Given the description of an element on the screen output the (x, y) to click on. 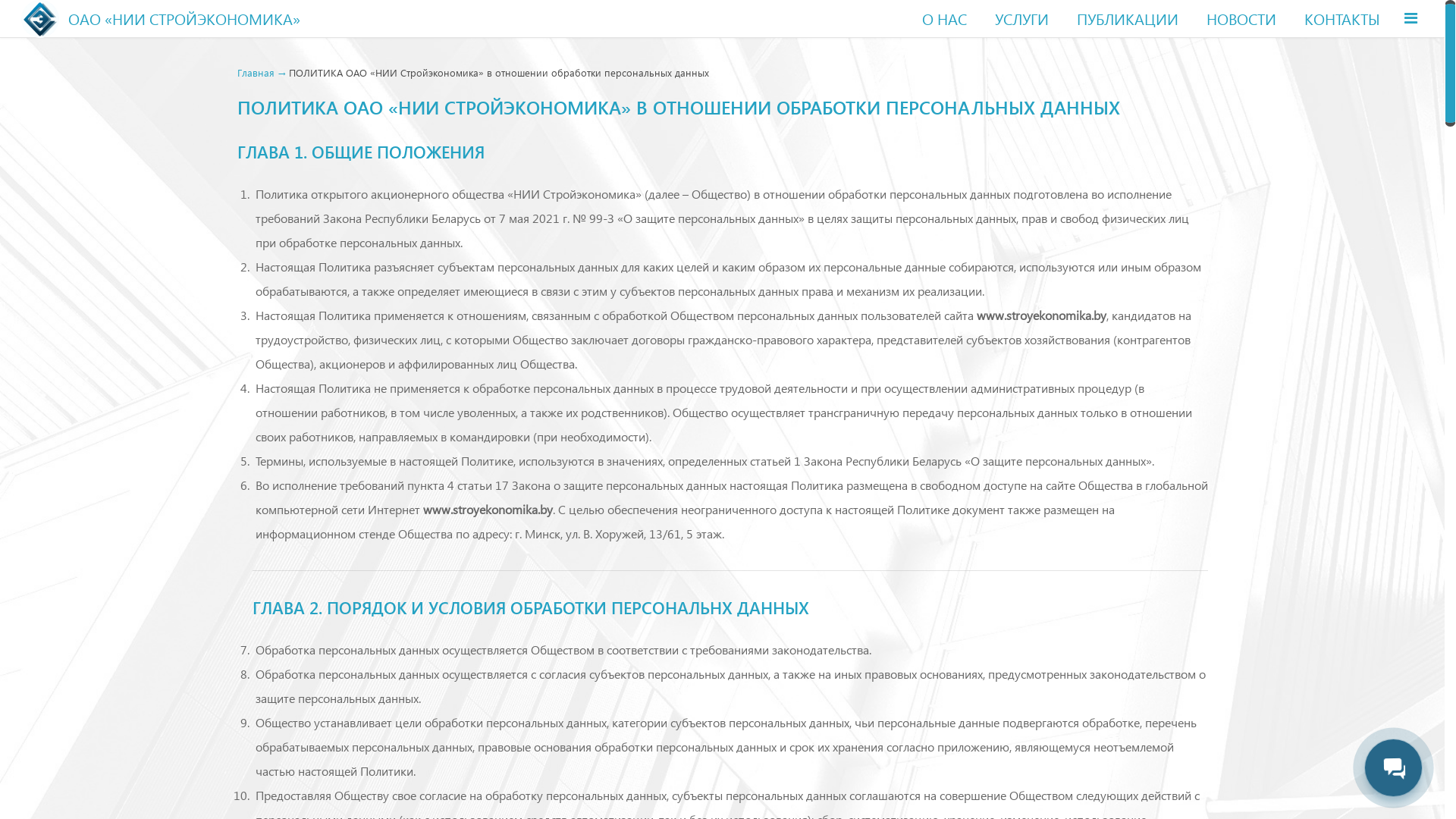
MENU Element type: text (1410, 18)
